Given the description of an element on the screen output the (x, y) to click on. 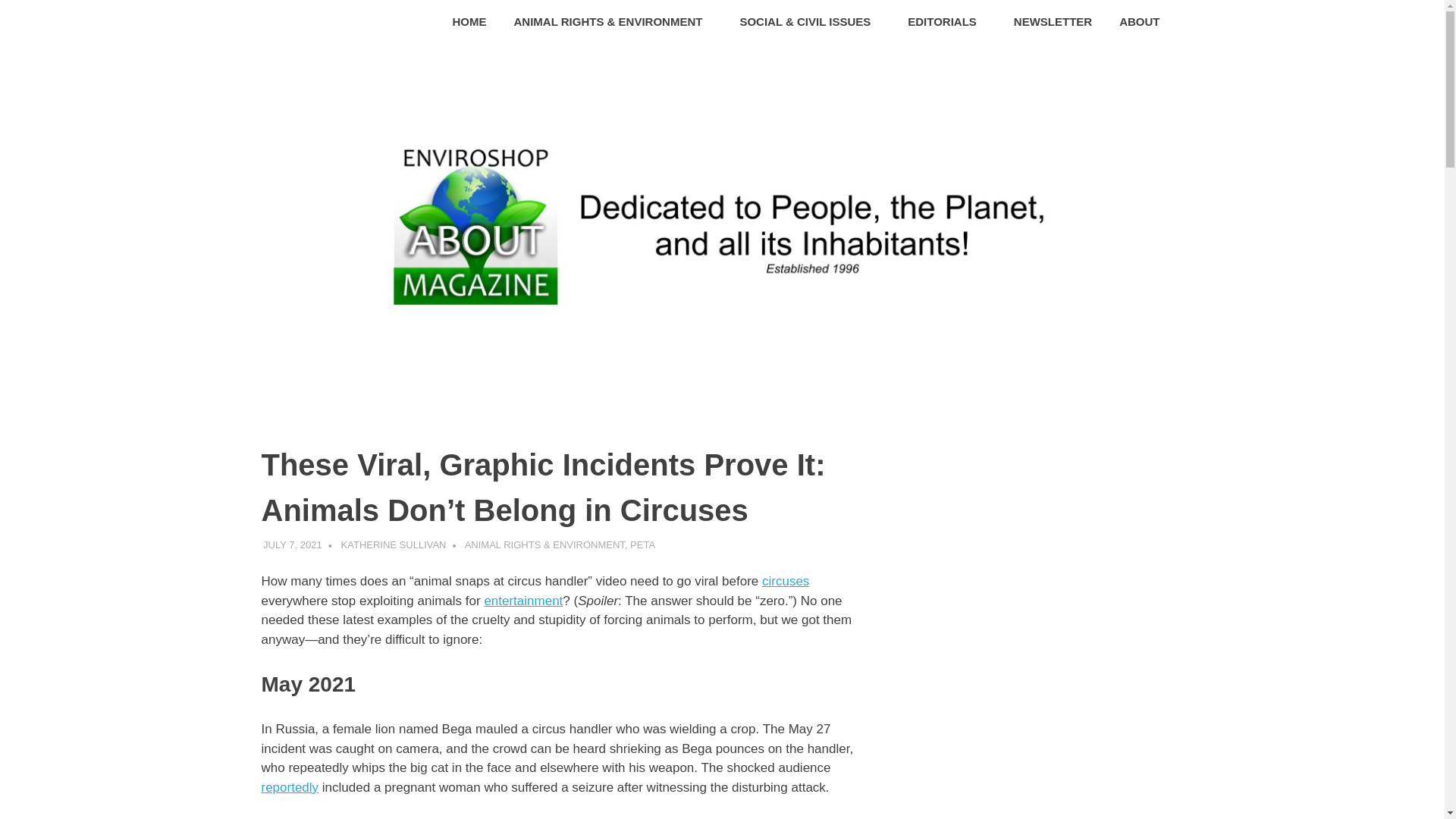
NEWSLETTER (1052, 22)
EDITORIALS (946, 22)
KATHERINE SULLIVAN (393, 544)
HOME (469, 22)
6:15 am (292, 544)
ABOUT (1143, 22)
View all posts by Katherine Sullivan (393, 544)
JULY 7, 2021 (292, 544)
